Given the description of an element on the screen output the (x, y) to click on. 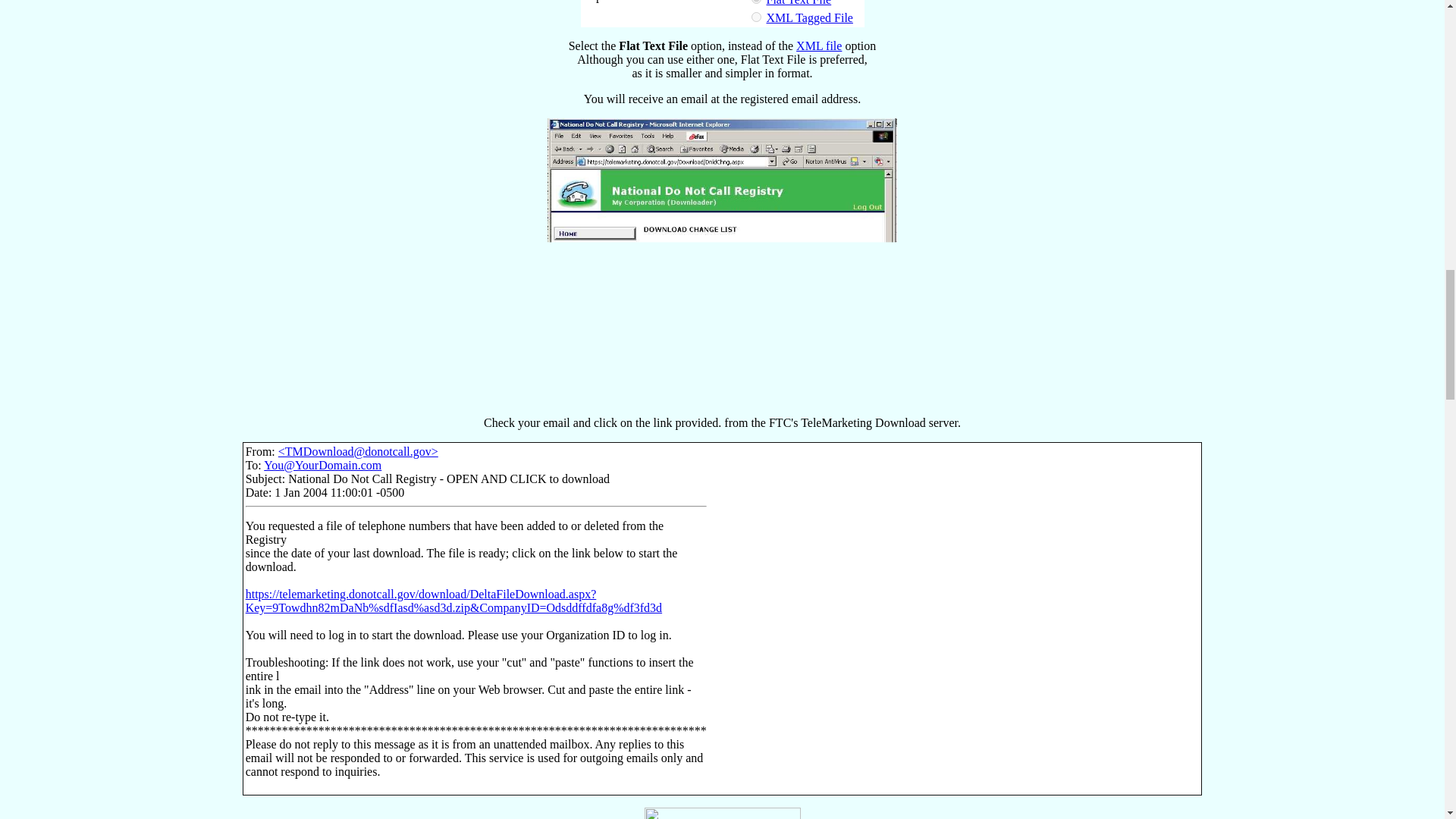
XML Tagged File (808, 17)
XML file (818, 45)
Flat (755, 2)
Xml (755, 17)
Text File (798, 2)
Flat Text File (798, 2)
XML Tagged File (808, 17)
